Given the description of an element on the screen output the (x, y) to click on. 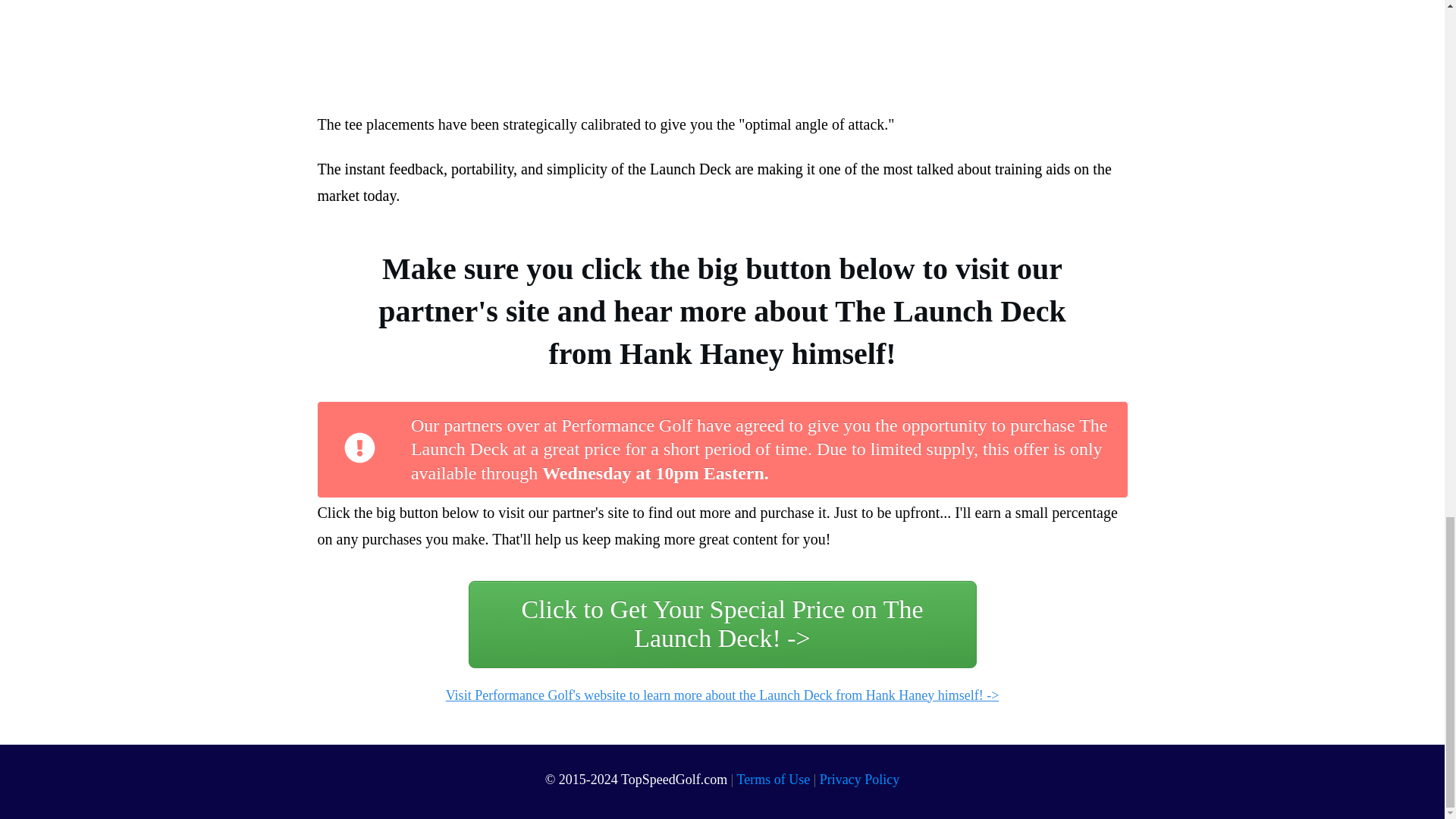
Terms of Use (773, 779)
Privacy Policy (859, 779)
